Given the description of an element on the screen output the (x, y) to click on. 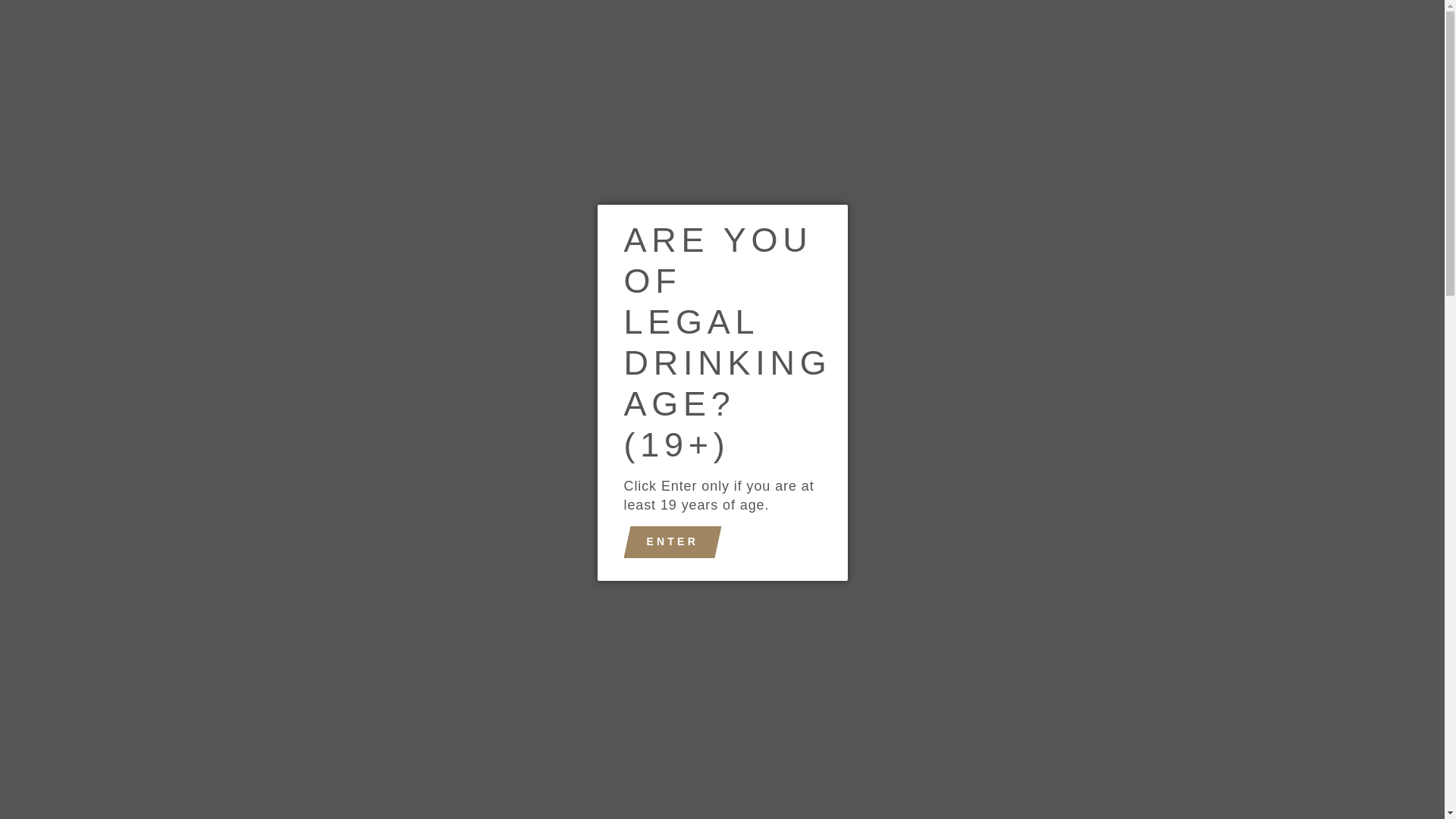
Tweet on Twitter (724, 719)
SHOP NOW (502, 99)
HOME (409, 99)
Pin on Pinterest (801, 719)
Share on Facebook (644, 719)
